Given the description of an element on the screen output the (x, y) to click on. 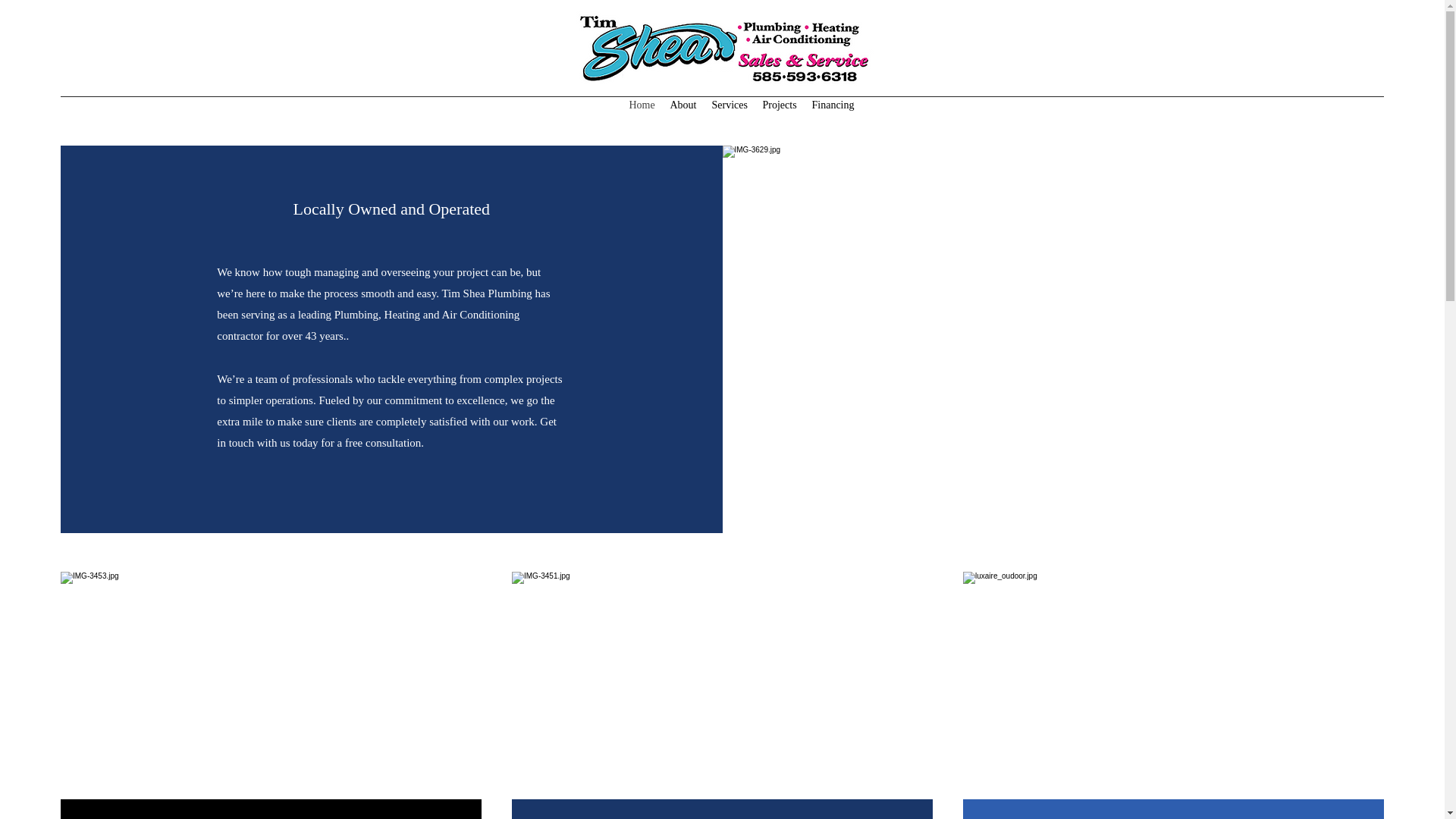
Projects (780, 105)
About (683, 105)
Home (641, 105)
Financing (832, 105)
Services (728, 105)
